Given the description of an element on the screen output the (x, y) to click on. 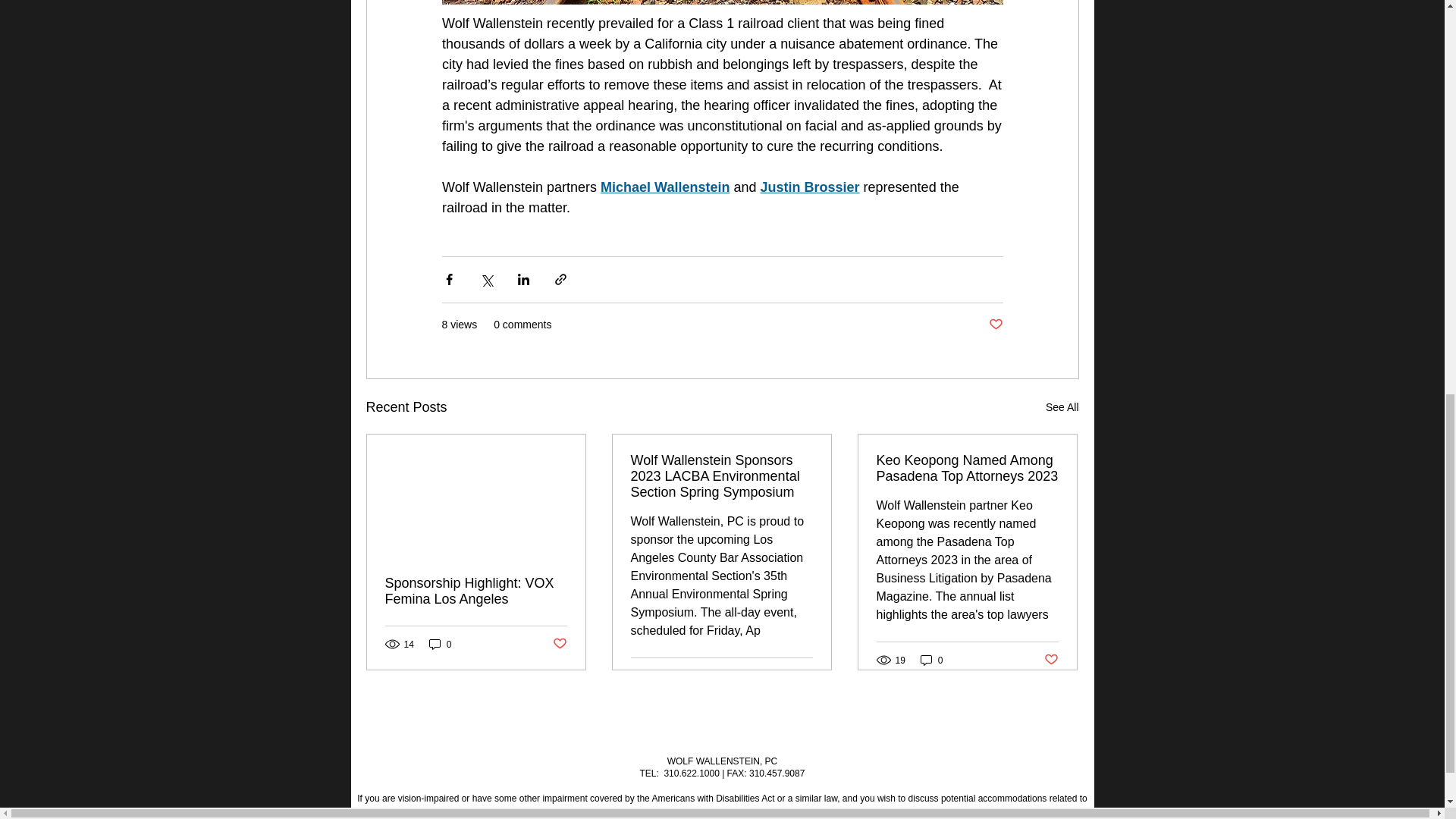
Sponsorship Highlight: VOX Femina Los Angeles (476, 591)
Post not marked as liked (995, 324)
Michael Wallenstein (664, 186)
Post not marked as liked (804, 675)
0 (440, 644)
Post not marked as liked (558, 643)
Keo Keopong Named Among Pasadena Top Attorneys 2023 (967, 468)
Justin Brossier (809, 186)
See All (1061, 407)
